Given the description of an element on the screen output the (x, y) to click on. 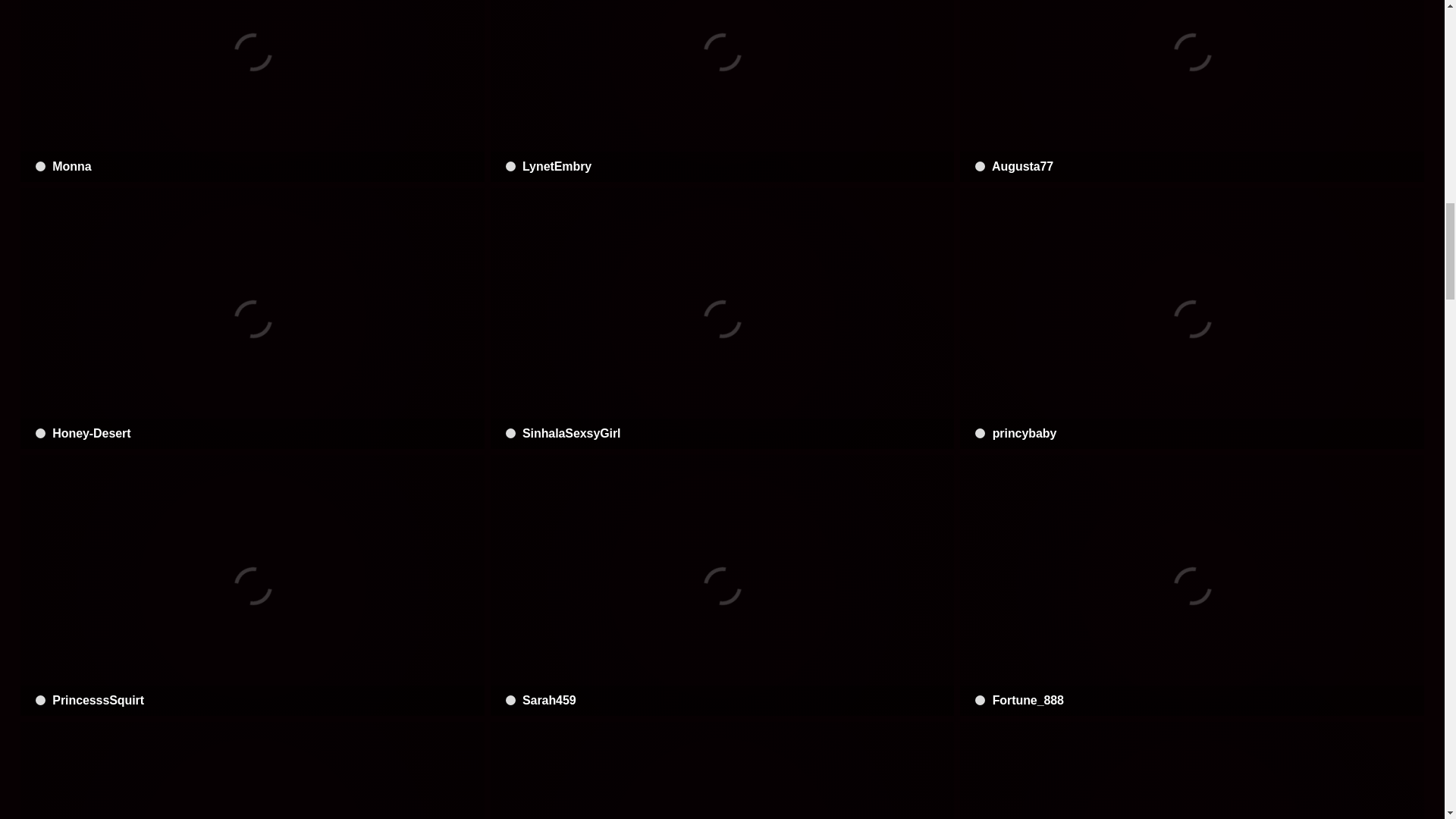
LynetEmbry (722, 90)
Sarah459 (722, 585)
LilHoneyBee (1191, 770)
Miss69Ri99 (252, 770)
SinhalaSexsyGirl (722, 318)
Monna (252, 90)
PrincesssSquirt (252, 585)
Honey-Desert (252, 318)
princybaby (1191, 318)
Augusta77 (1191, 90)
